Given the description of an element on the screen output the (x, y) to click on. 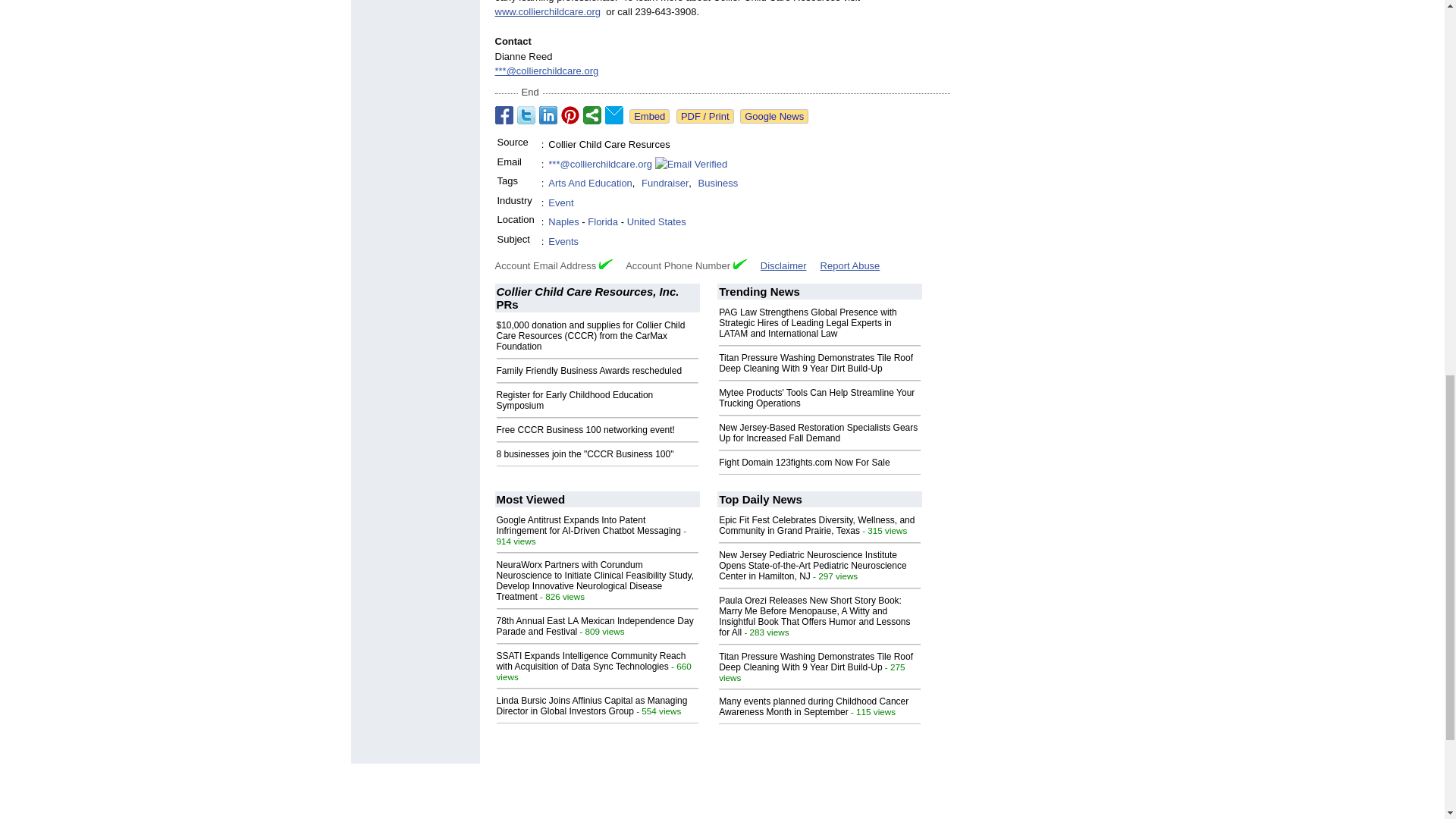
Embed this press release in your website! (648, 115)
See or print the PDF version! (705, 115)
Verified (605, 264)
Verified (739, 264)
Share on Facebook (503, 115)
Share on Pinterest (569, 115)
Share on LinkedIn (547, 115)
Email to a Friend (614, 115)
Share on Twitter (525, 115)
